Given the description of an element on the screen output the (x, y) to click on. 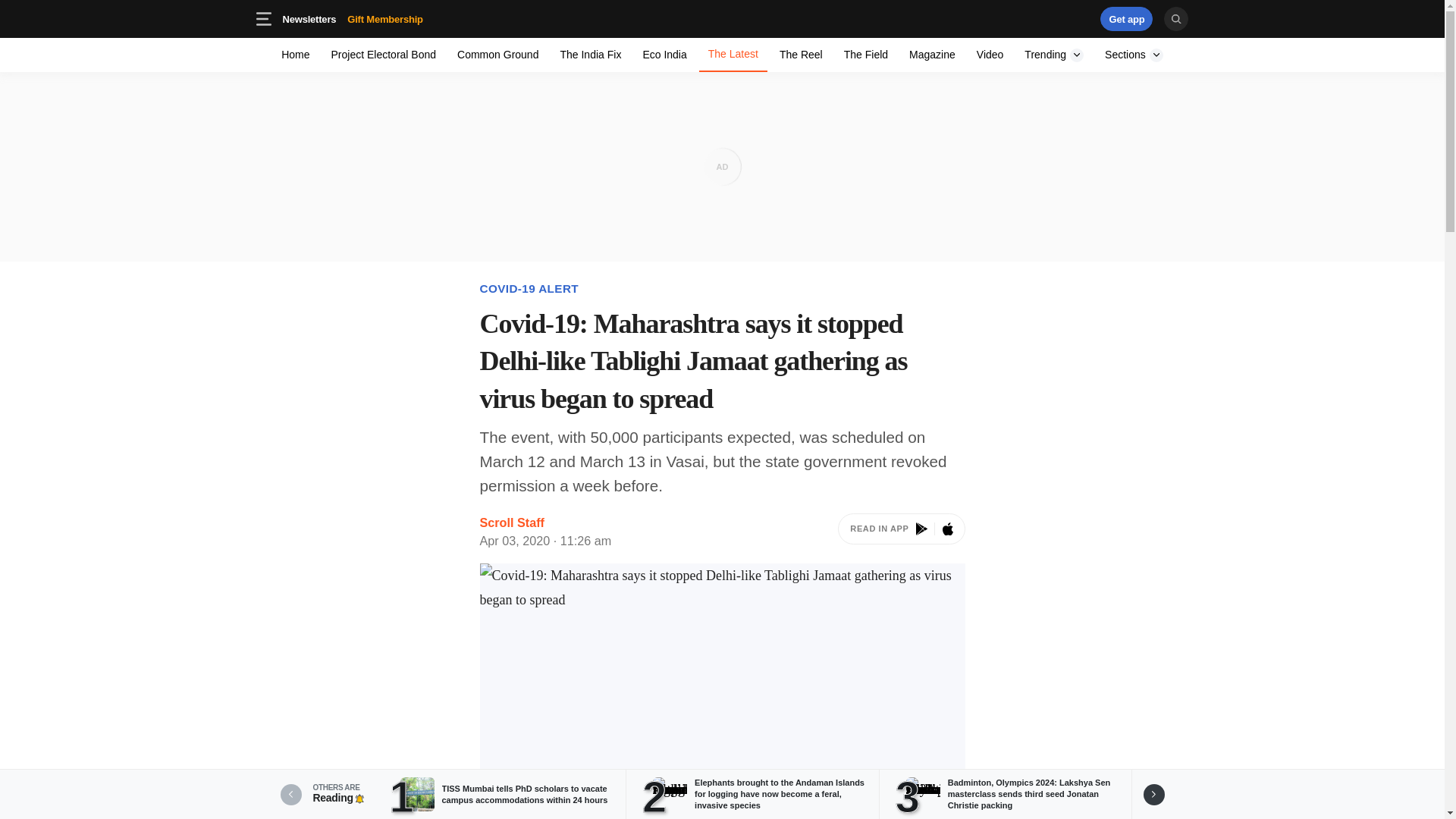
Get app (1035, 18)
Newsletters (309, 18)
The Field (865, 54)
Common Ground (352, 18)
Gift Membership (497, 54)
Get app (385, 18)
The Reel (1126, 18)
The Latest (800, 54)
Magazine (732, 54)
Video (931, 54)
The India Fix (990, 54)
Trending (590, 54)
Sections (1053, 54)
Get app (1134, 54)
